Given the description of an element on the screen output the (x, y) to click on. 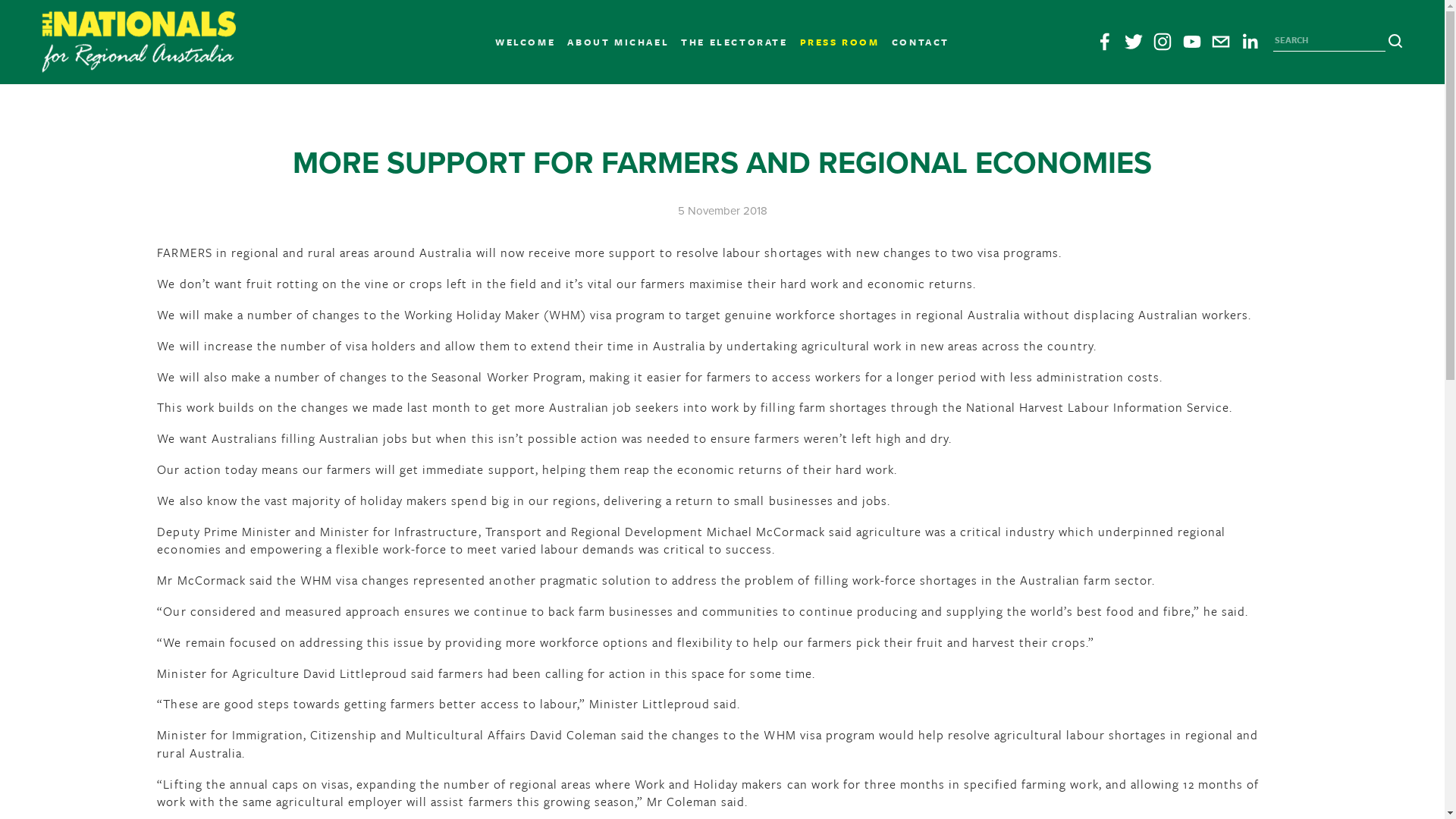
CONTACT Element type: text (920, 41)
PRESS ROOM Element type: text (839, 41)
WELCOME Element type: text (525, 42)
THE ELECTORATE Element type: text (733, 41)
ABOUT MICHAEL Element type: text (617, 41)
